Given the description of an element on the screen output the (x, y) to click on. 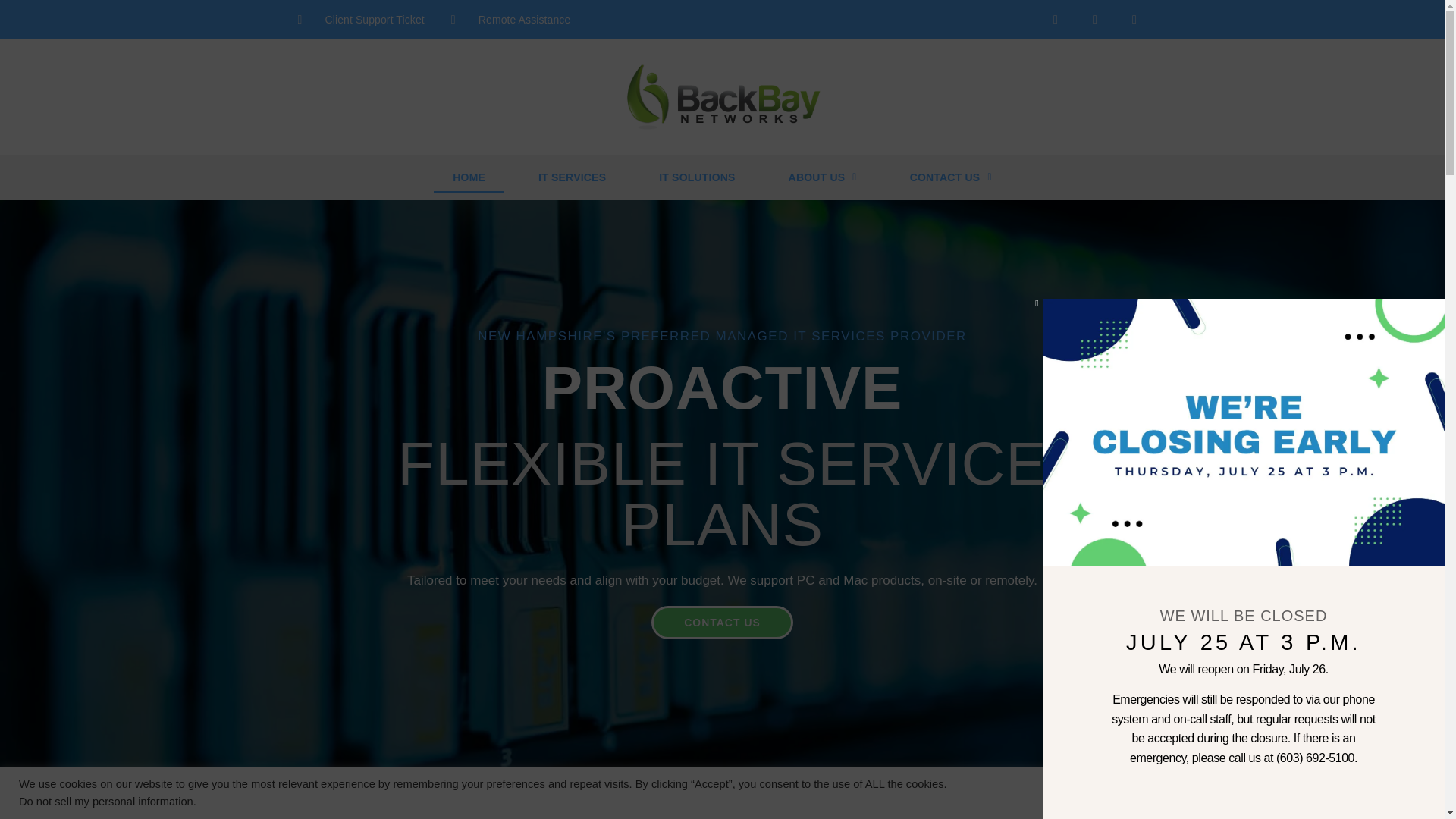
CONTACT US (721, 622)
CONTACT US (950, 177)
ABOUT US (823, 177)
IT SOLUTIONS (697, 177)
IT SERVICES (571, 177)
Client Support Ticket (360, 19)
HOME (468, 177)
Remote Assistance (510, 19)
